Given the description of an element on the screen output the (x, y) to click on. 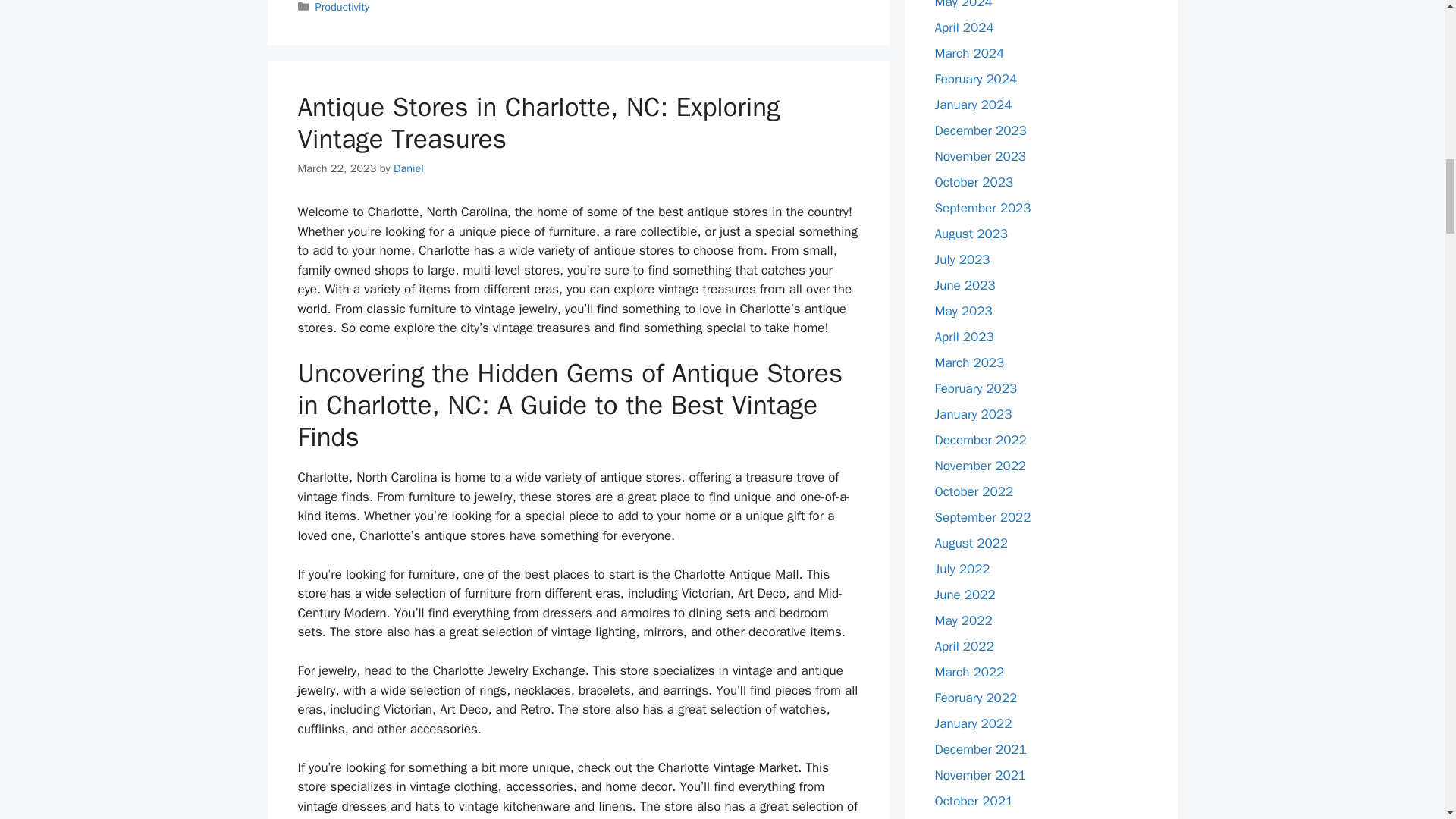
View all posts by Daniel (408, 168)
Productivity (342, 6)
Daniel (408, 168)
Antique Stores in Charlotte, NC: Exploring Vintage Treasures (537, 122)
